Given the description of an element on the screen output the (x, y) to click on. 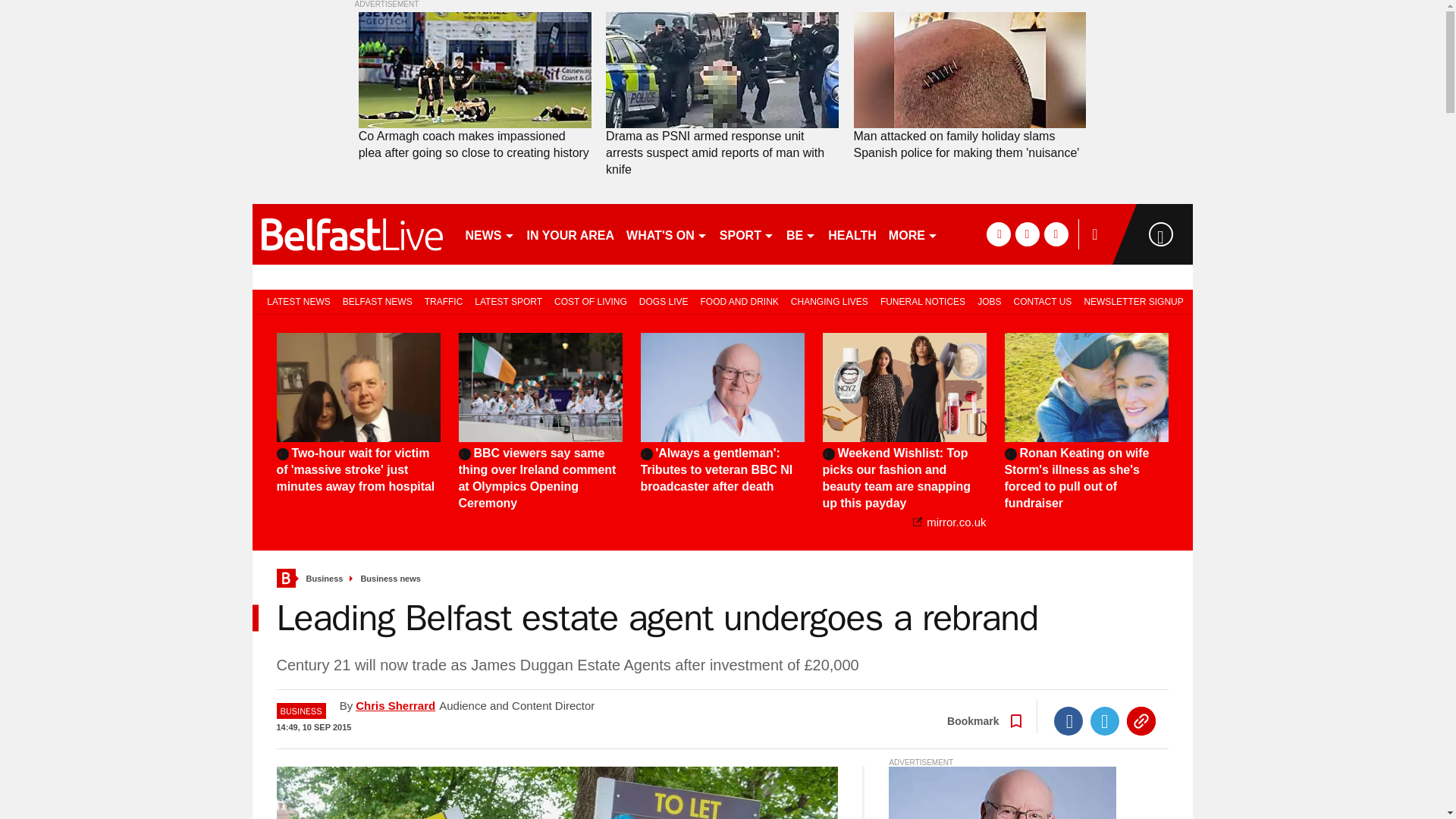
belfastlive (351, 233)
WHAT'S ON (666, 233)
facebook (997, 233)
instagram (1055, 233)
NEWS (490, 233)
twitter (1026, 233)
IN YOUR AREA (569, 233)
